Given the description of an element on the screen output the (x, y) to click on. 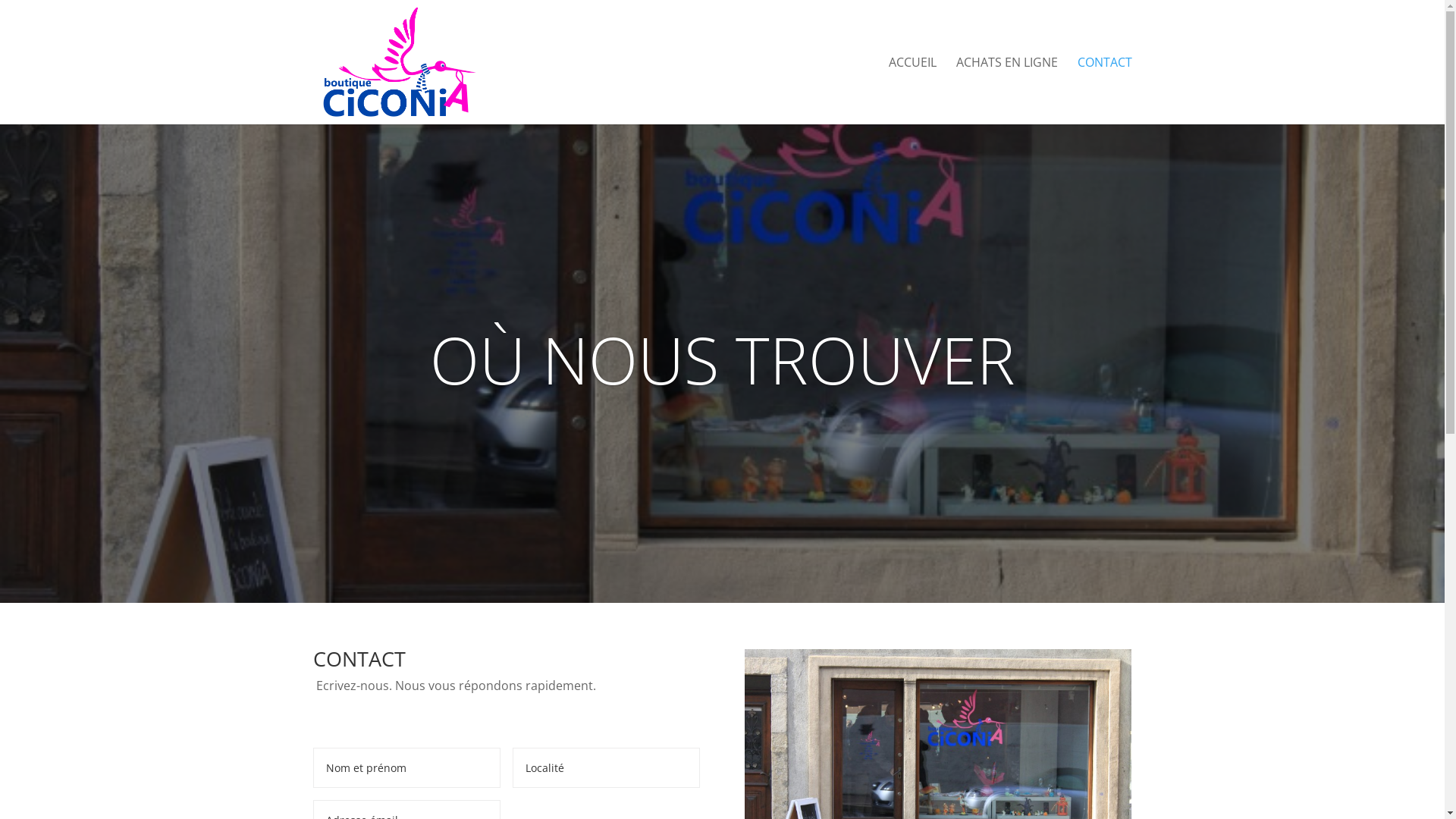
ACCUEIL Element type: text (912, 90)
ACHATS EN LIGNE Element type: text (1006, 90)
CONTACT Element type: text (1103, 90)
